Given the description of an element on the screen output the (x, y) to click on. 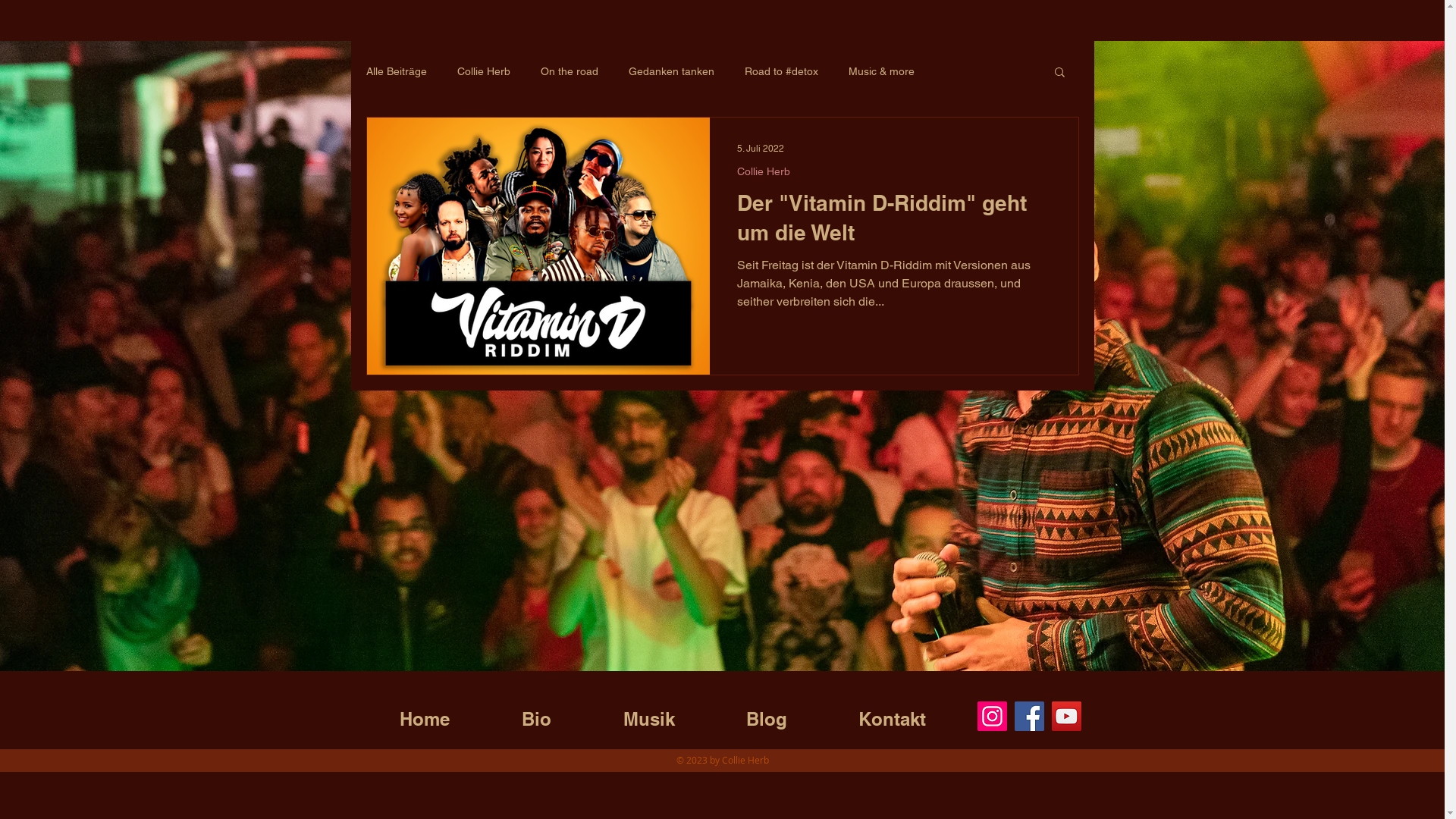
Gedanken tanken Element type: text (670, 71)
Road to #detox Element type: text (781, 71)
Kontakt Element type: text (891, 712)
Bio Element type: text (535, 712)
On the road Element type: text (568, 71)
Collie Herb Element type: text (763, 171)
Der "Vitamin D-Riddim" geht um die Welt Element type: text (894, 221)
Home Element type: text (425, 712)
Musik Element type: text (647, 712)
Collie Herb Element type: text (482, 71)
Blog Element type: text (765, 712)
Music & more Element type: text (880, 71)
